Given the description of an element on the screen output the (x, y) to click on. 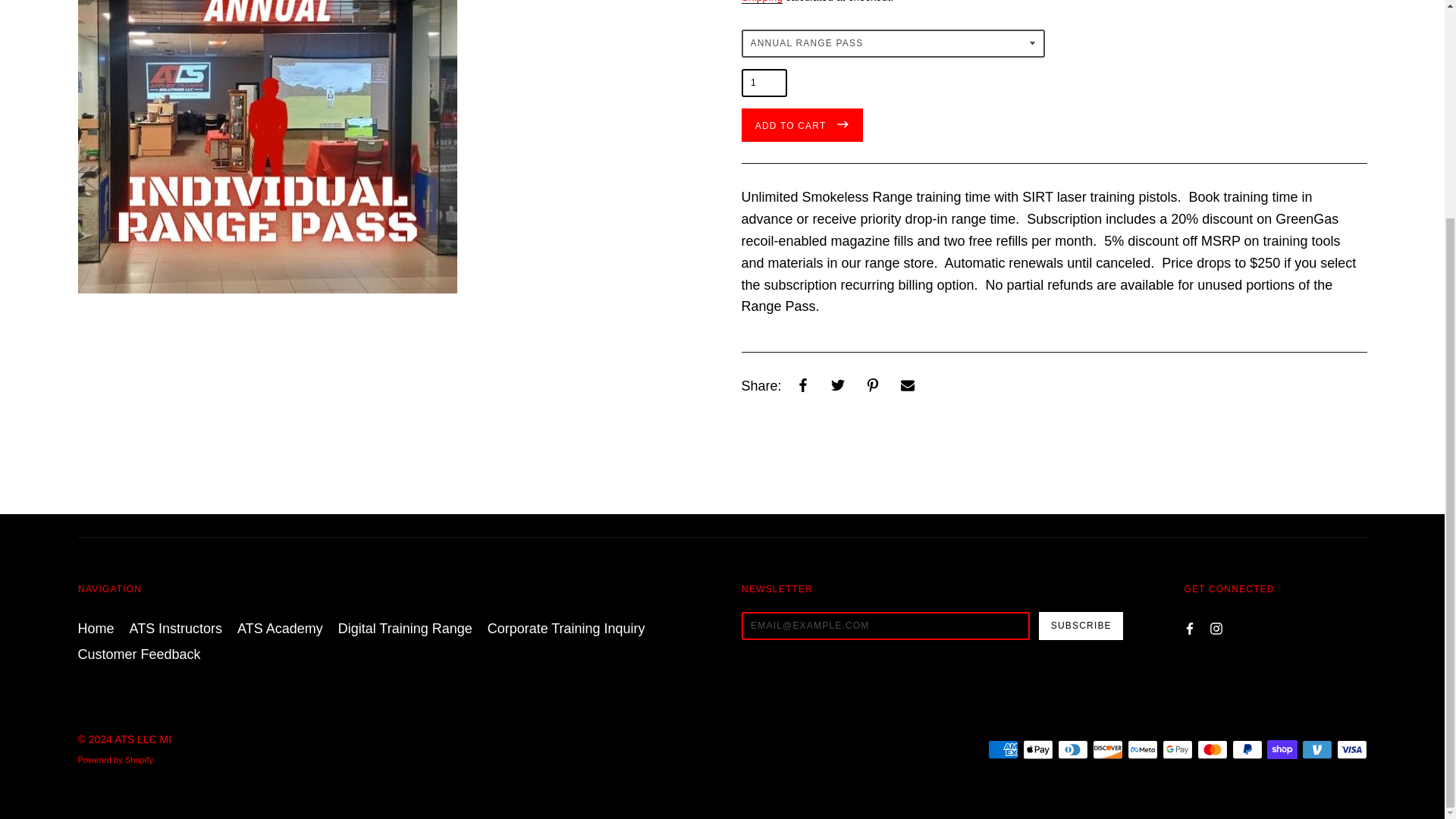
ATS LLC MI on Instagram (1216, 626)
ADD TO CART (802, 124)
Shipping (762, 2)
1 (764, 82)
ATS LLC MI on Facebook (1189, 626)
